Given the description of an element on the screen output the (x, y) to click on. 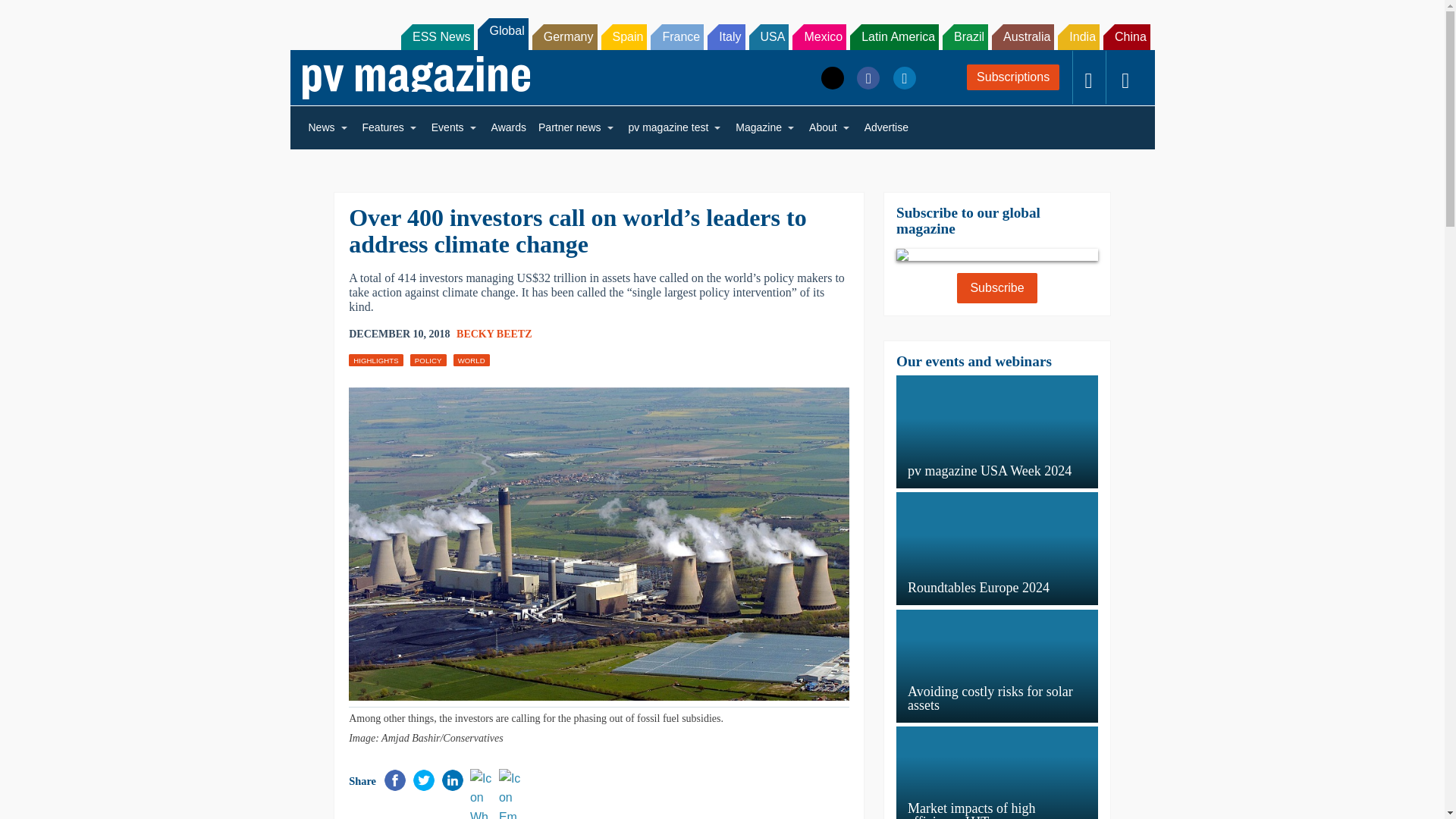
France (676, 36)
Posts by Becky Beetz (494, 333)
Latin America (894, 36)
ESS News (437, 36)
India (1078, 36)
Brazil (965, 36)
USA (769, 36)
Spain (622, 36)
China (1126, 36)
Mexico (818, 36)
